Given the description of an element on the screen output the (x, y) to click on. 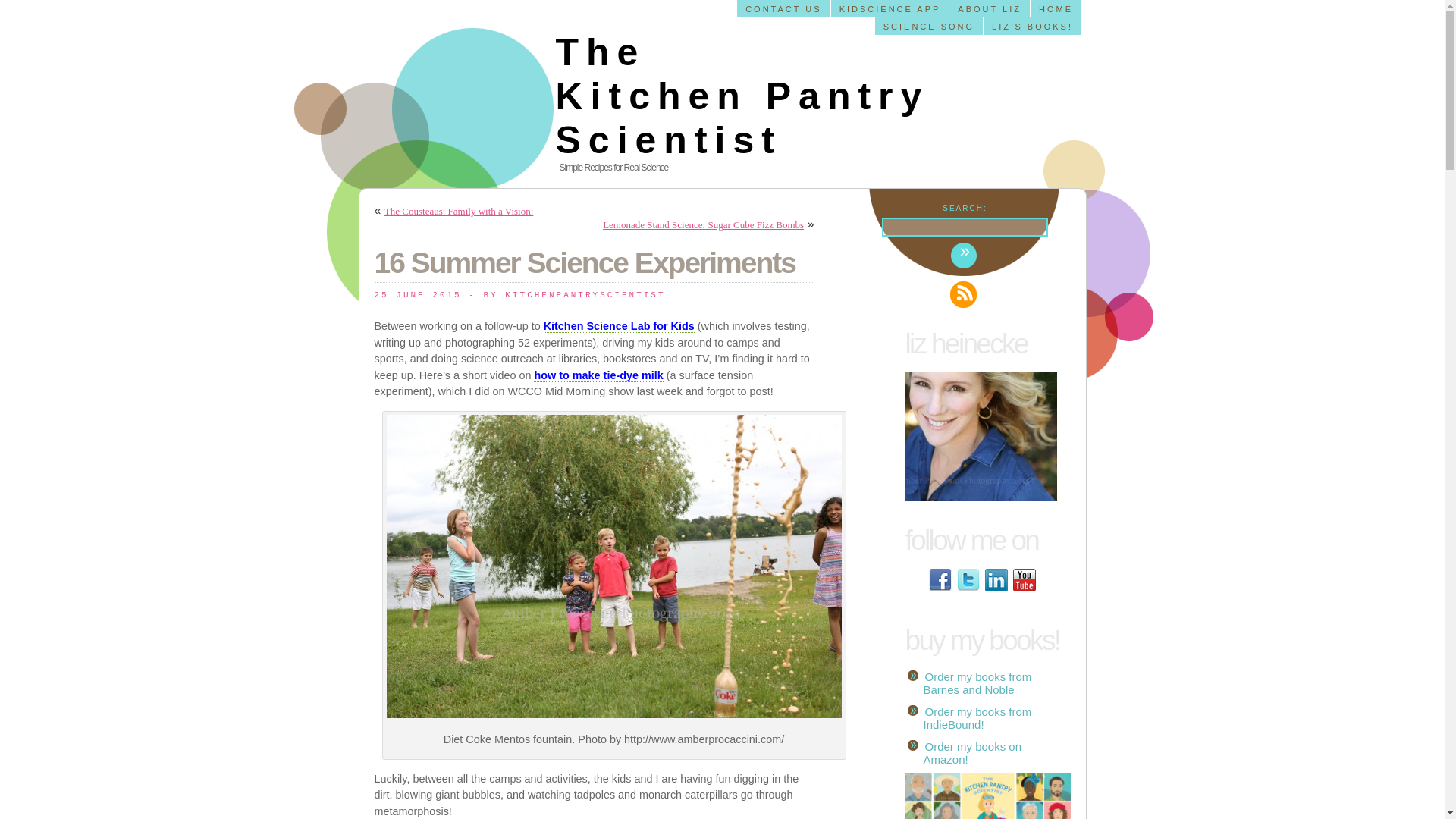
Subscribe to our RSS (963, 294)
16 Summer Science Experiments (584, 262)
CONTACT US (783, 8)
The Kitchen Pantry Scientist (741, 96)
KIDSCIENCE APP (890, 8)
HOME (1055, 8)
The Cousteaus: Family with a Vision: (459, 211)
how to make tie-dye milk (598, 375)
ABOUT LIZ (989, 8)
Kitchen Science Lab for Kids (618, 326)
